Given the description of an element on the screen output the (x, y) to click on. 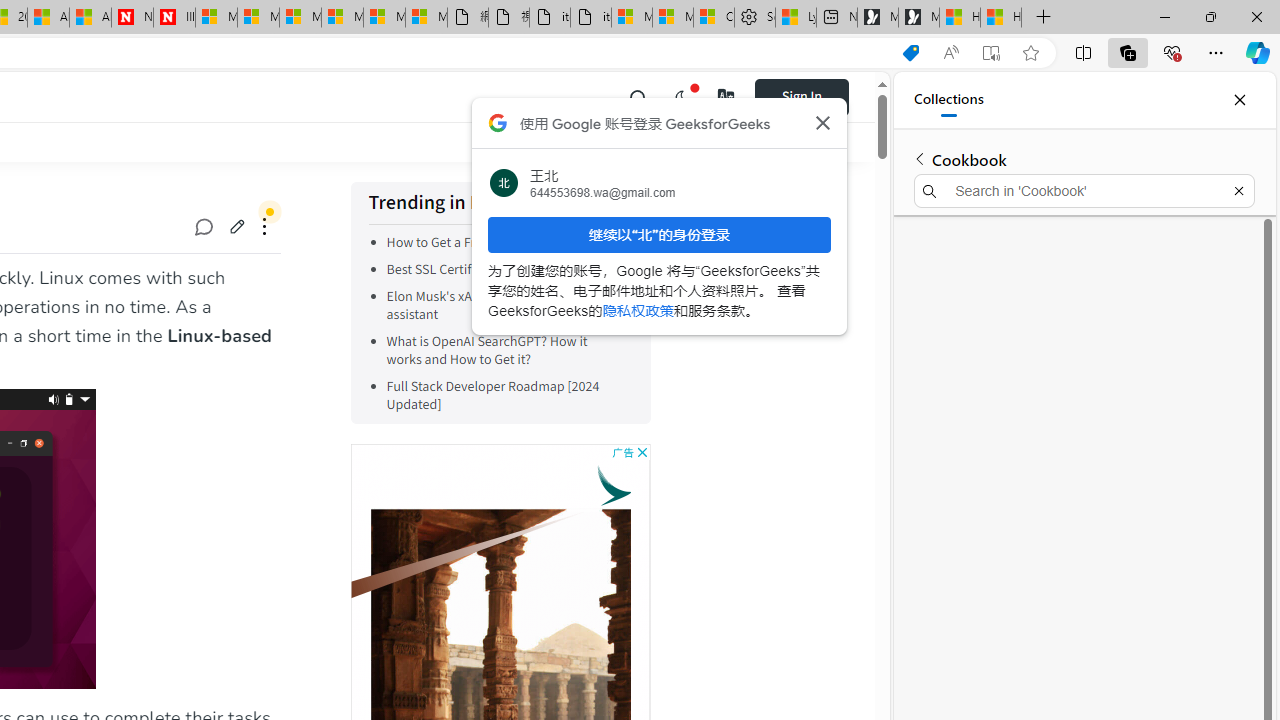
This site has coupons! Shopping in Microsoft Edge (910, 53)
Microsoft Start Gaming (918, 17)
What is OpenAI SearchGPT? How it works and How to Get it? (505, 350)
Illness news & latest pictures from Newsweek.com (173, 17)
Class: header-main__left-list-item gcse-search_li p-relative (638, 96)
Sign In (801, 96)
Elon Musk's xAI releases Grok-2 AI assistant (484, 305)
